Given the description of an element on the screen output the (x, y) to click on. 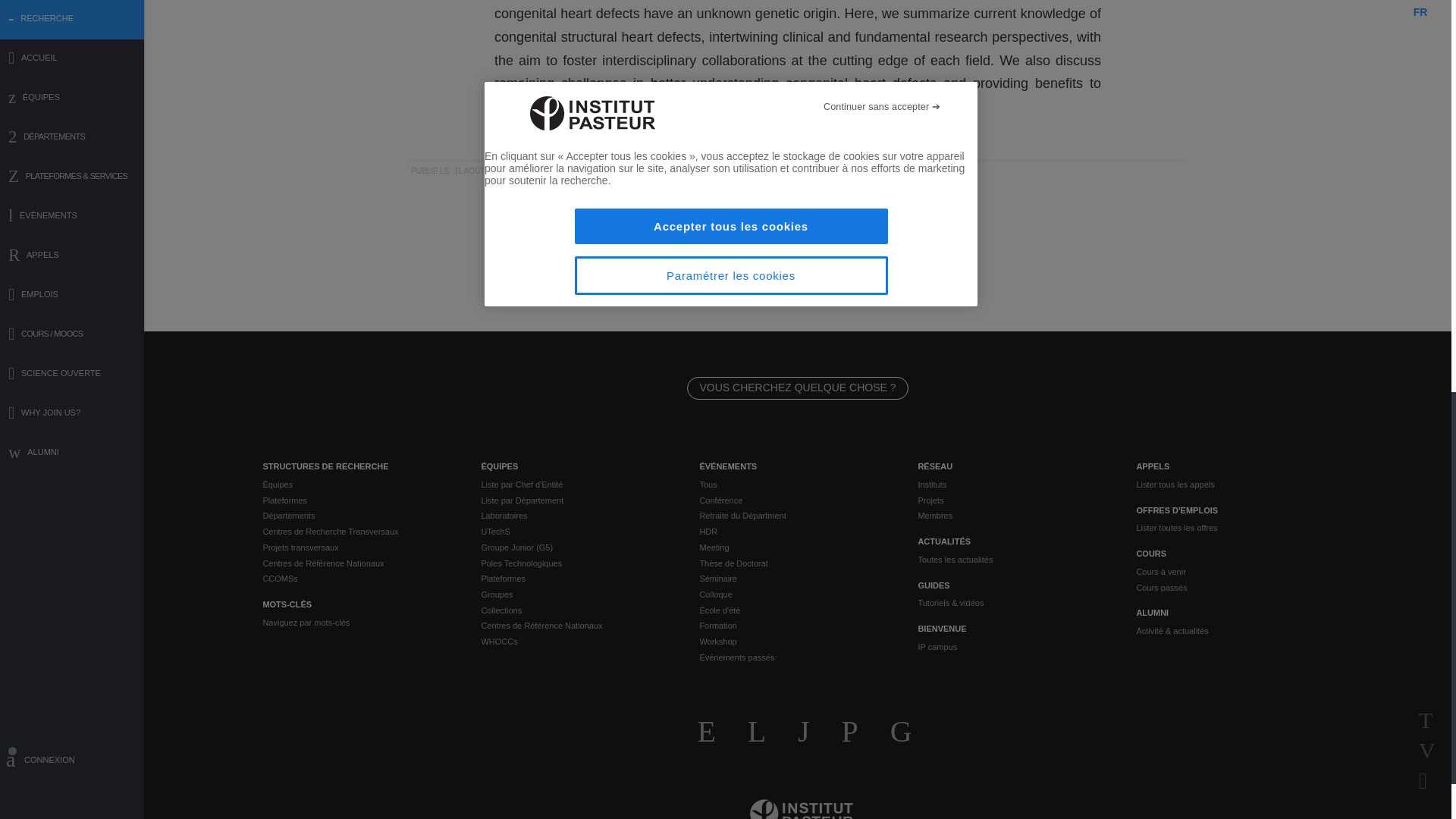
Plateformes (360, 500)
